Given the description of an element on the screen output the (x, y) to click on. 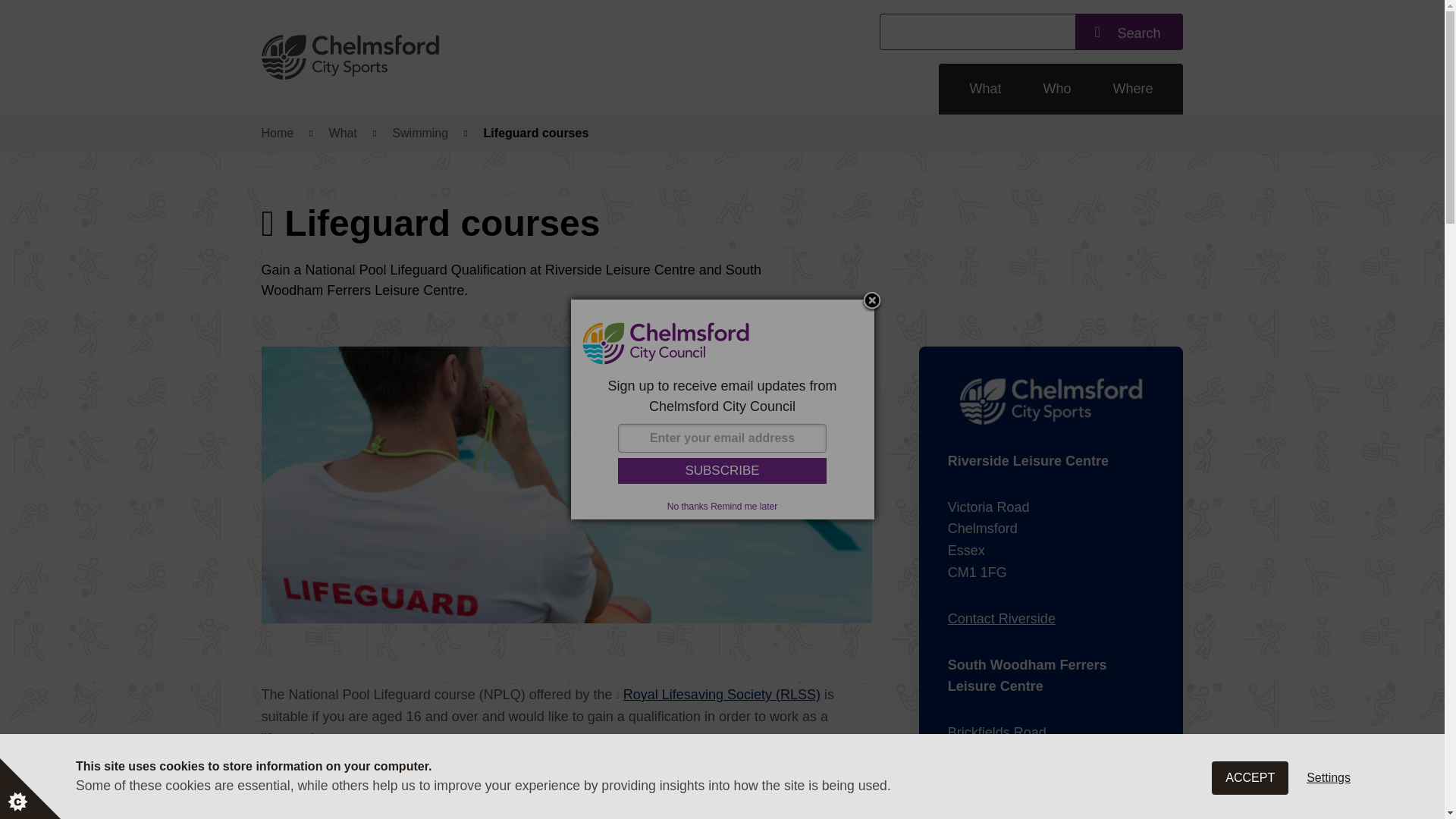
Enter your email address (722, 438)
What (342, 133)
Contact: Riverside Leisure Centre (1001, 618)
Chelmsford City Sports (448, 56)
Settings (1328, 816)
Home (277, 133)
Search (1128, 31)
Subscribe (722, 470)
Swimming (419, 133)
Who (1056, 88)
What (985, 88)
Where (1132, 88)
